Given the description of an element on the screen output the (x, y) to click on. 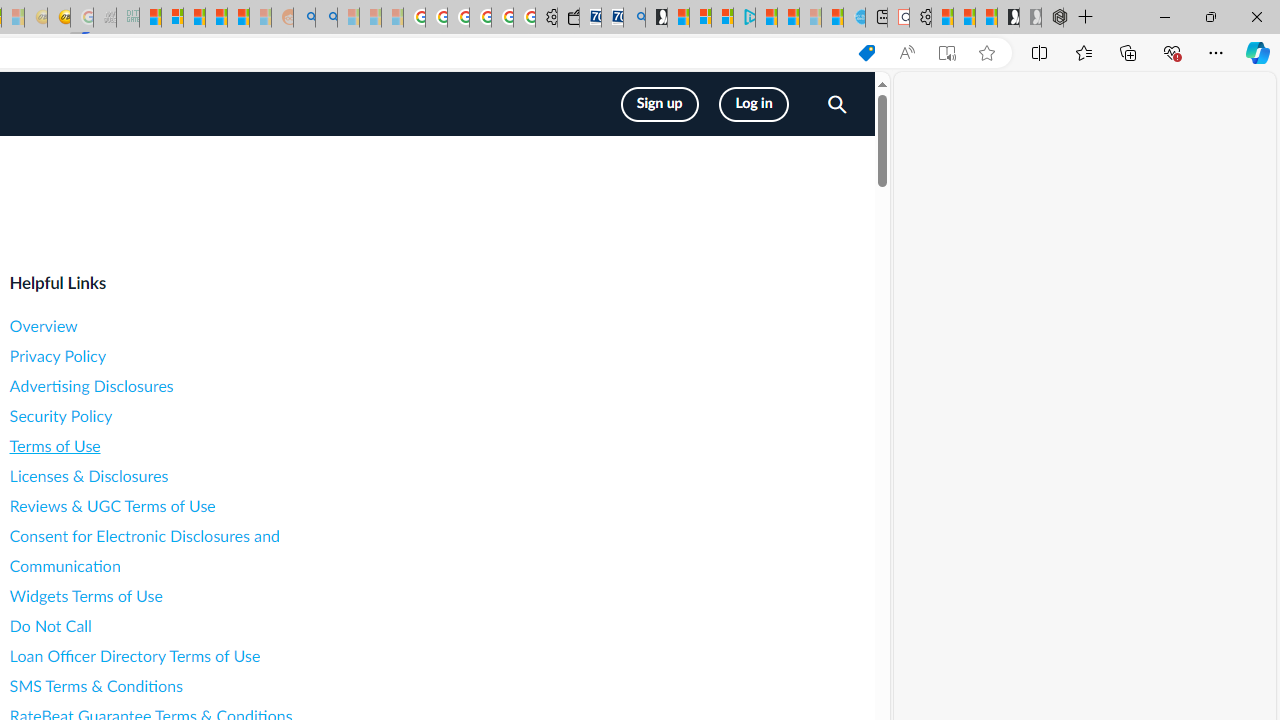
Advertising Disclosures (188, 385)
Loan Officer Directory Terms of Use (188, 655)
Overview (188, 326)
Licenses & Disclosures (188, 475)
